Given the description of an element on the screen output the (x, y) to click on. 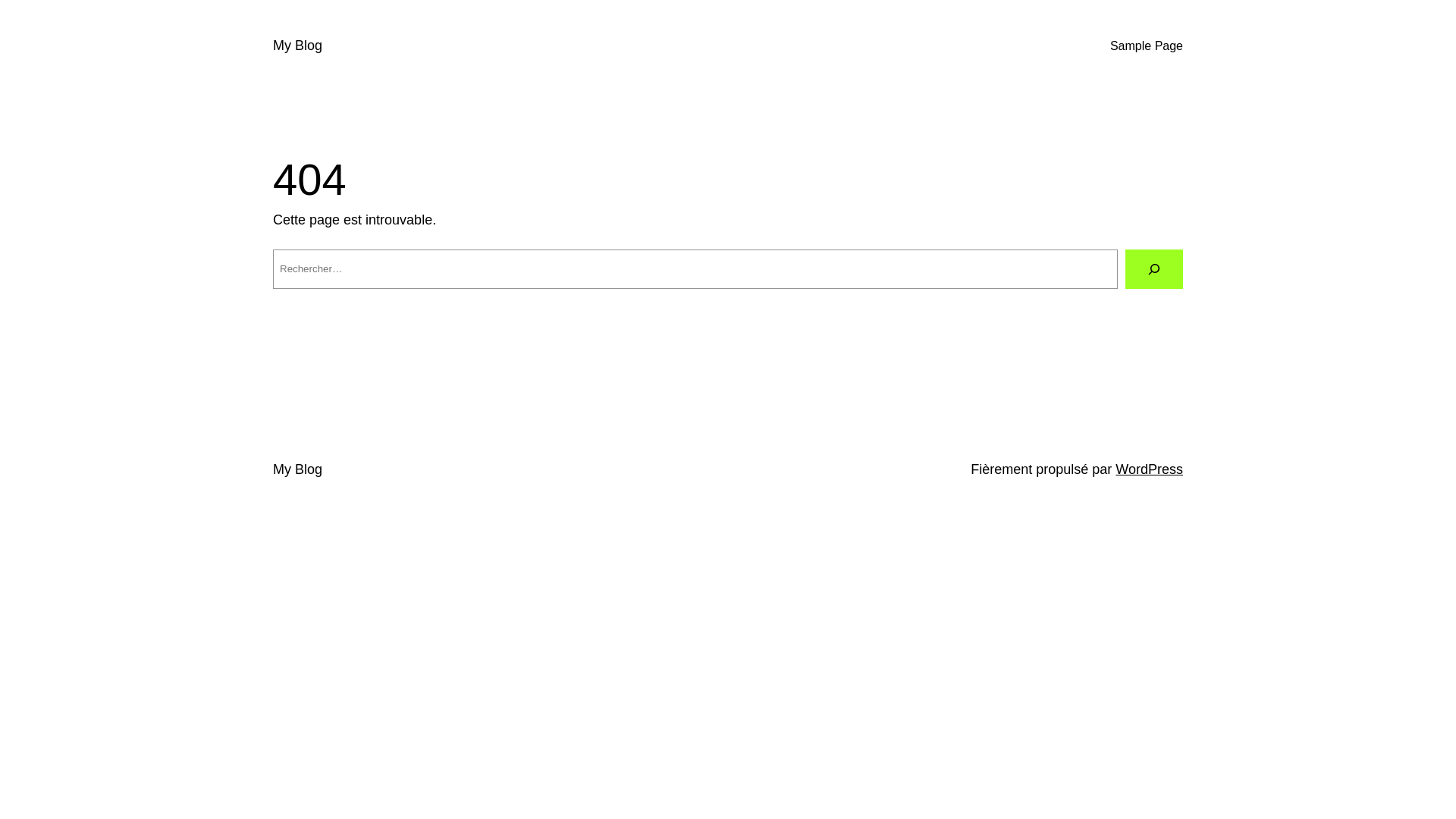
WordPress Element type: text (1149, 468)
My Blog Element type: text (297, 468)
My Blog Element type: text (297, 45)
Sample Page Element type: text (1146, 46)
